Given the description of an element on the screen output the (x, y) to click on. 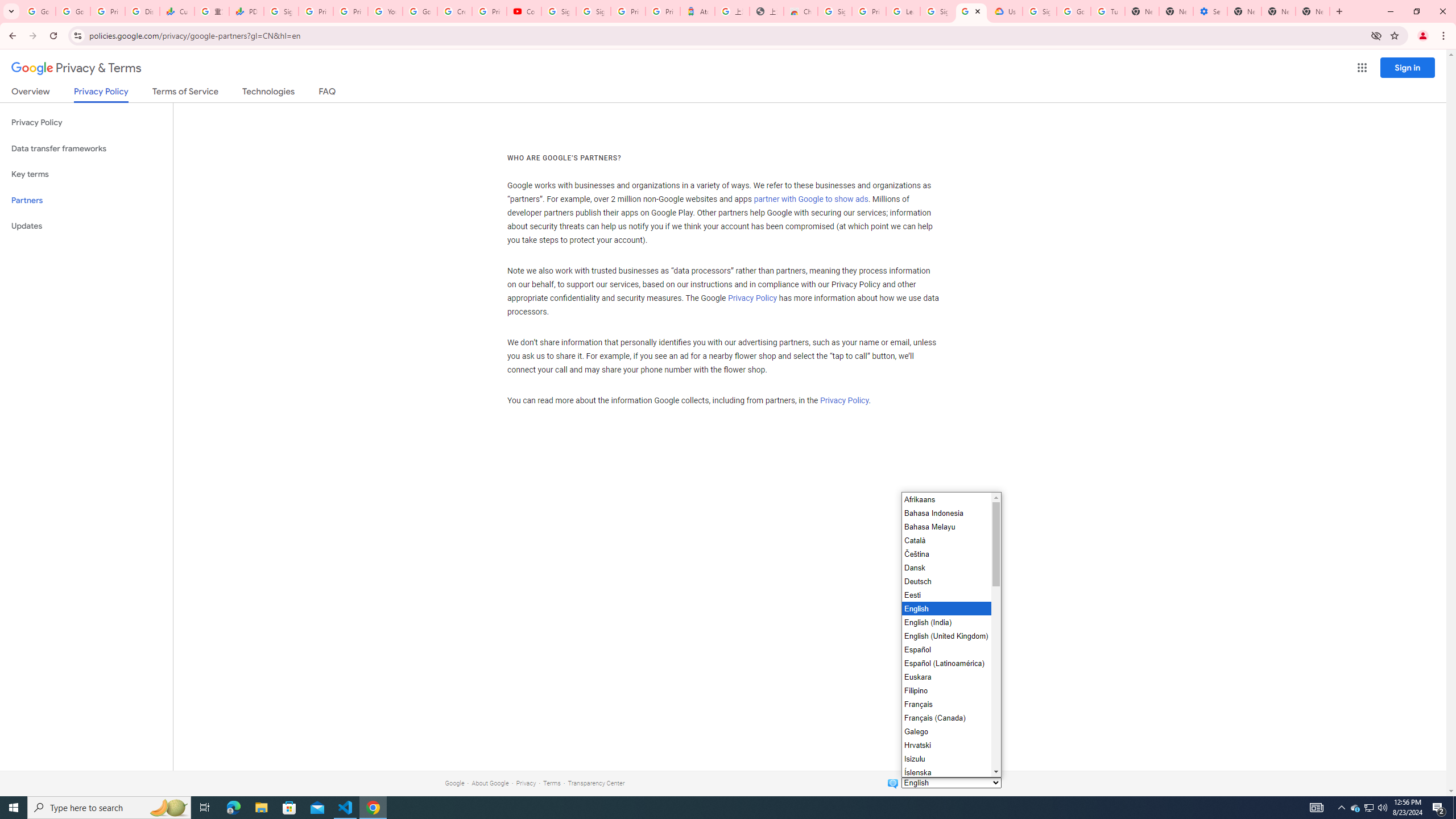
Deutsch (945, 581)
Hrvatski (945, 744)
Settings - Addresses and more (1209, 11)
Filipino (945, 689)
Google Account Help (419, 11)
Atour Hotel - Google hotels (697, 11)
Eesti (945, 594)
Dansk (945, 567)
Transparency Center (595, 783)
Content Creator Programs & Opportunities - YouTube Creators (524, 11)
